Given the description of an element on the screen output the (x, y) to click on. 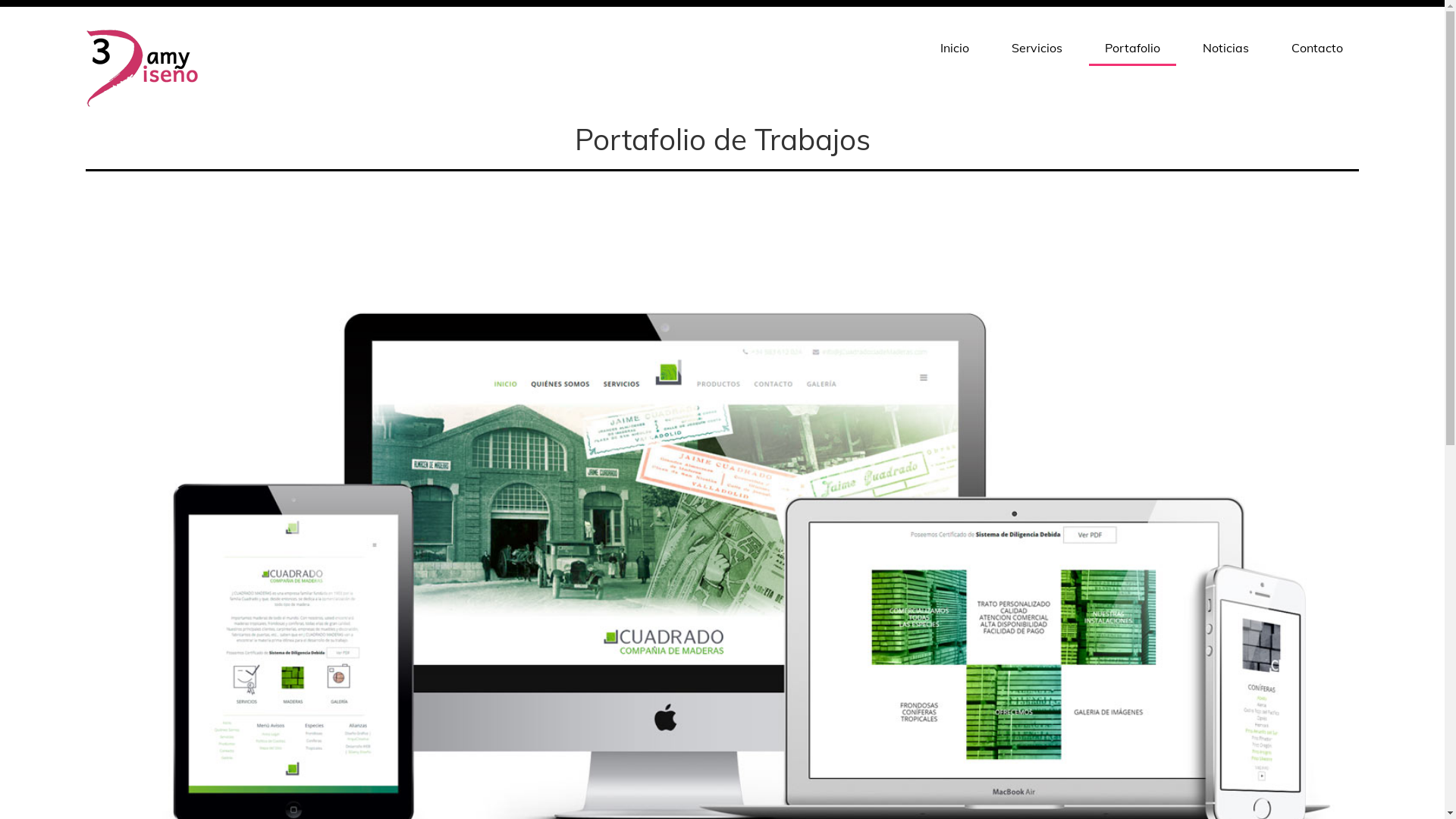
Contacto Element type: text (1316, 47)
Inicio Element type: text (954, 47)
Portafolio Element type: text (1132, 48)
Servicios Element type: text (1036, 47)
Noticias Element type: text (1225, 47)
